Given the description of an element on the screen output the (x, y) to click on. 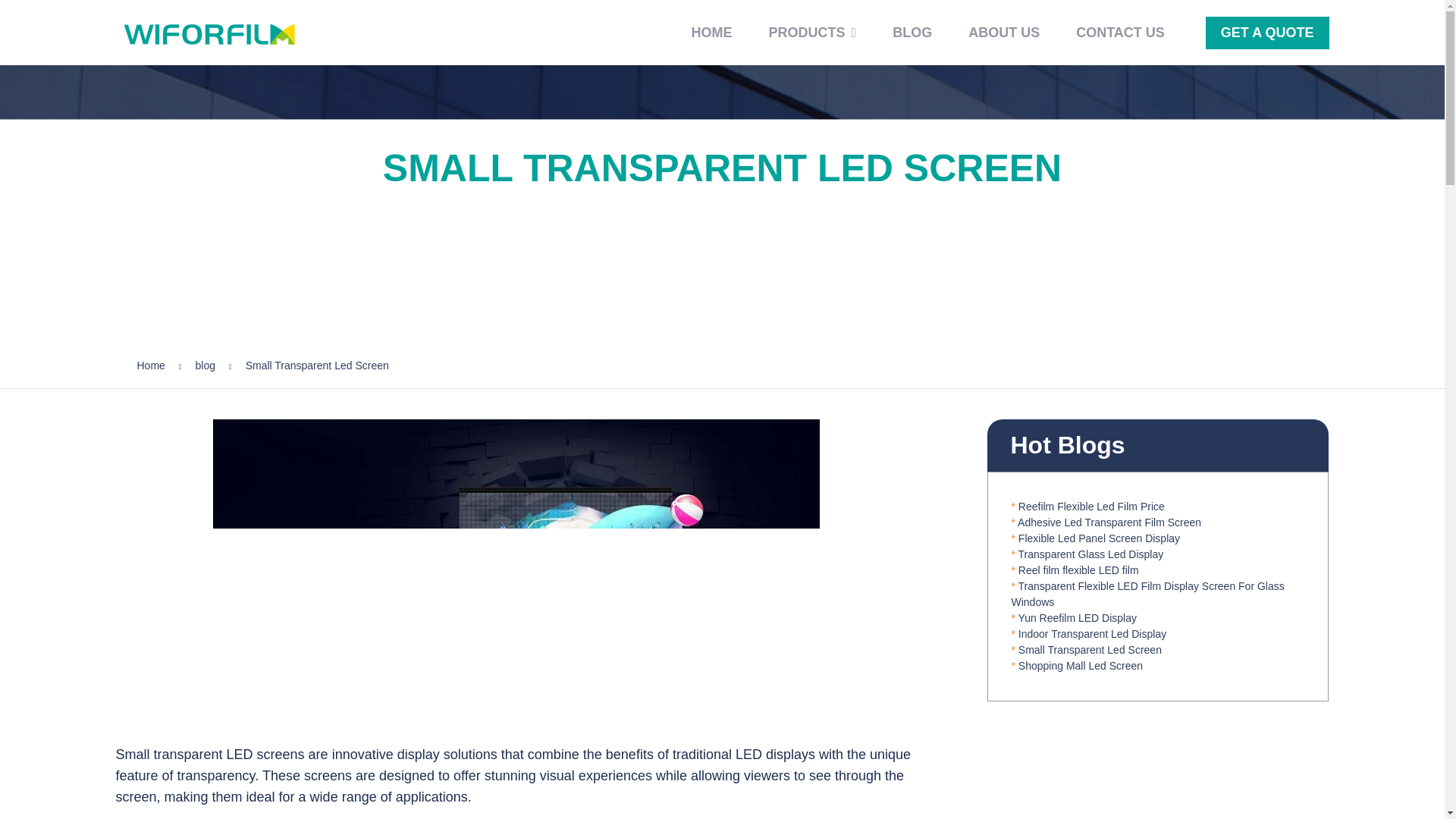
Yun Reefilm LED Display (1077, 616)
Reefilm Flexible Led Film Price (1090, 506)
BLOG (911, 32)
Adhesive Led Transparent Film Screen (1109, 521)
Home (150, 365)
Transparent Glass Led Display (1090, 553)
PRODUCTS (812, 32)
Shopping Mall Led Screen (1079, 665)
CONTACT US (1119, 32)
Indoor Transparent Led Display (1091, 633)
blog (205, 365)
HOME (711, 32)
Small Transparent Led Screen (1089, 648)
